Given the description of an element on the screen output the (x, y) to click on. 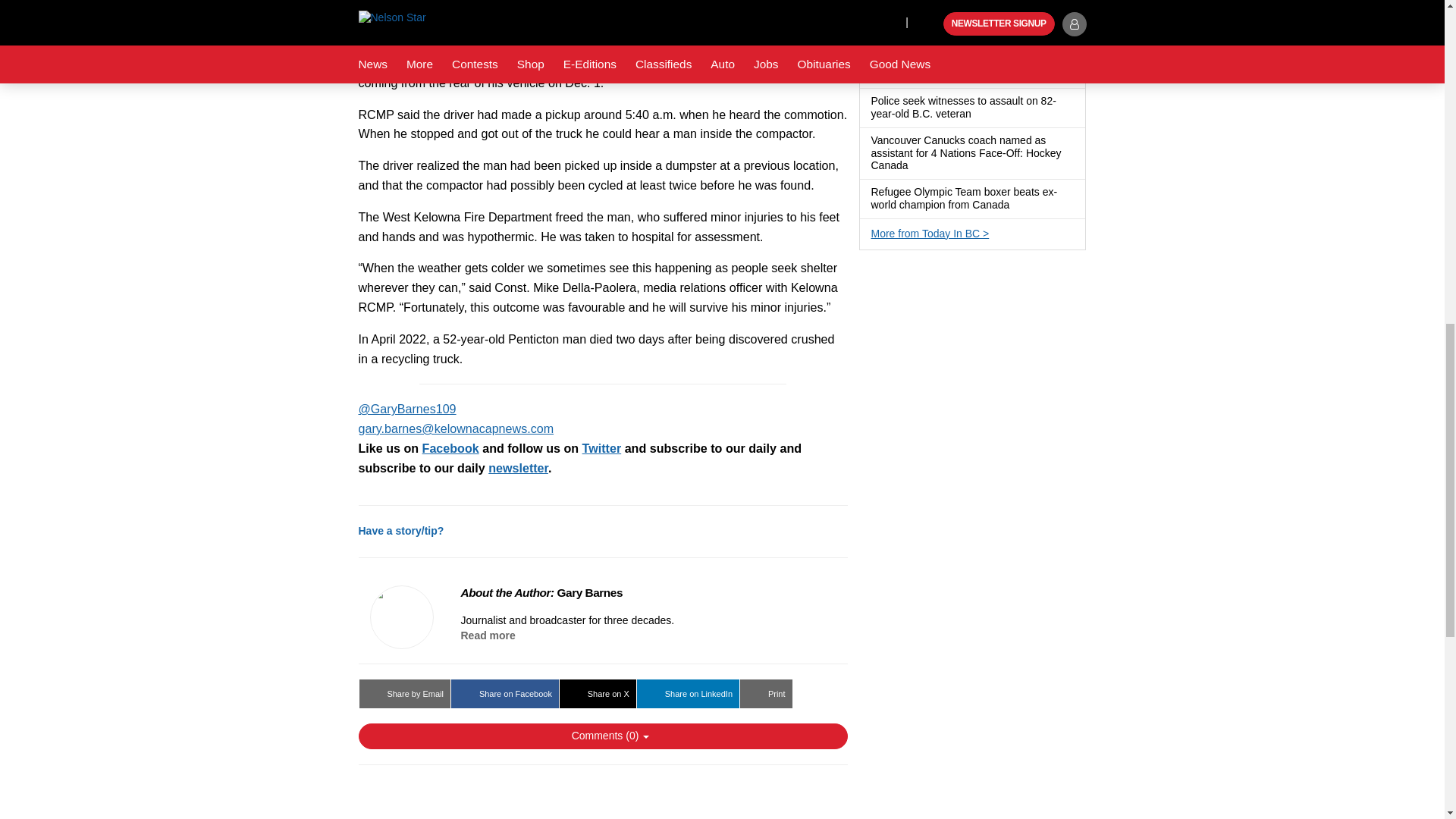
Show Comments (602, 736)
